Given the description of an element on the screen output the (x, y) to click on. 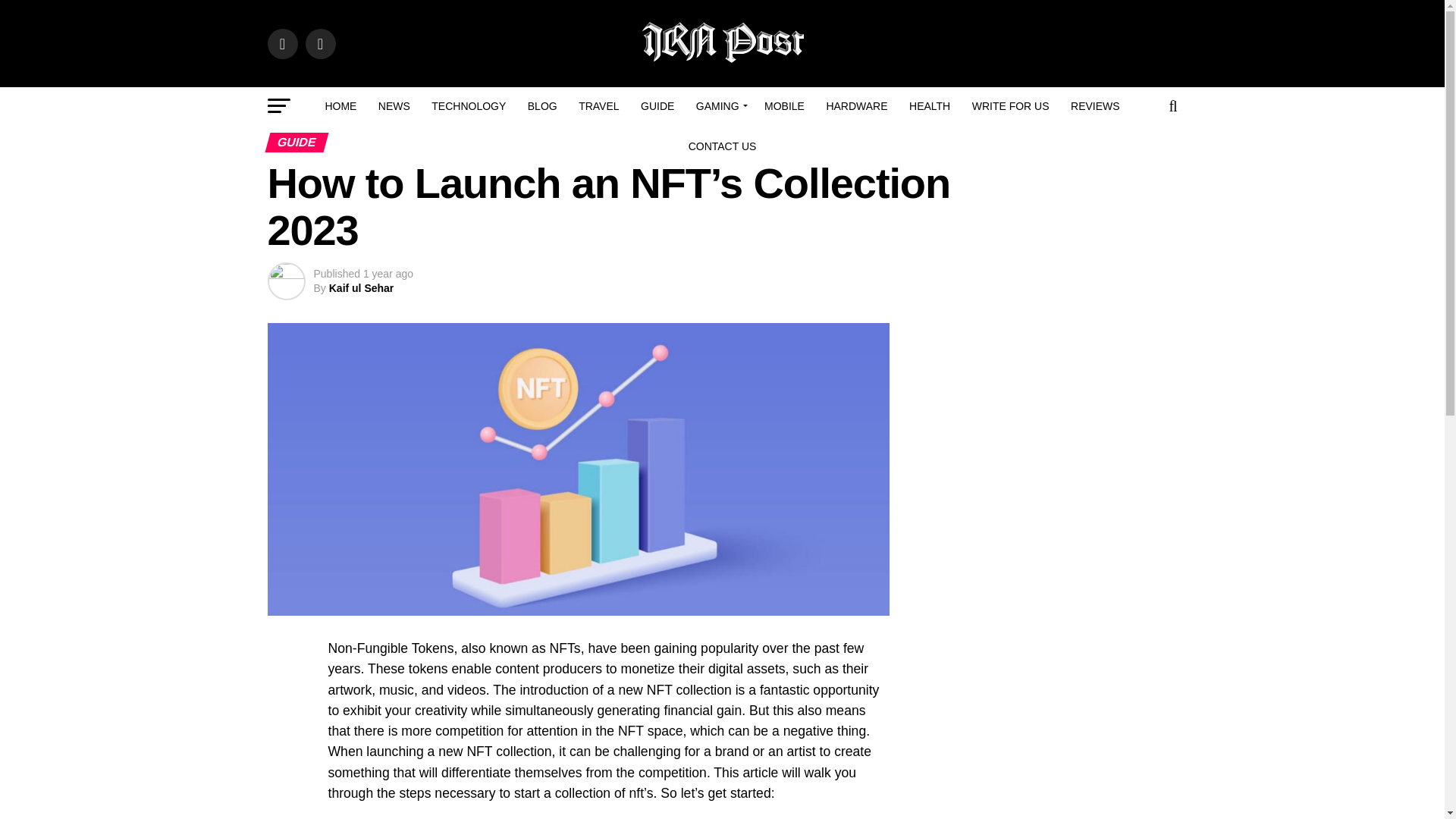
Posts by Kaif ul Sehar (361, 287)
GAMING (719, 105)
BLOG (542, 105)
TRAVEL (598, 105)
TECHNOLOGY (468, 105)
GUIDE (656, 105)
HOME (340, 105)
NEWS (394, 105)
